Given the description of an element on the screen output the (x, y) to click on. 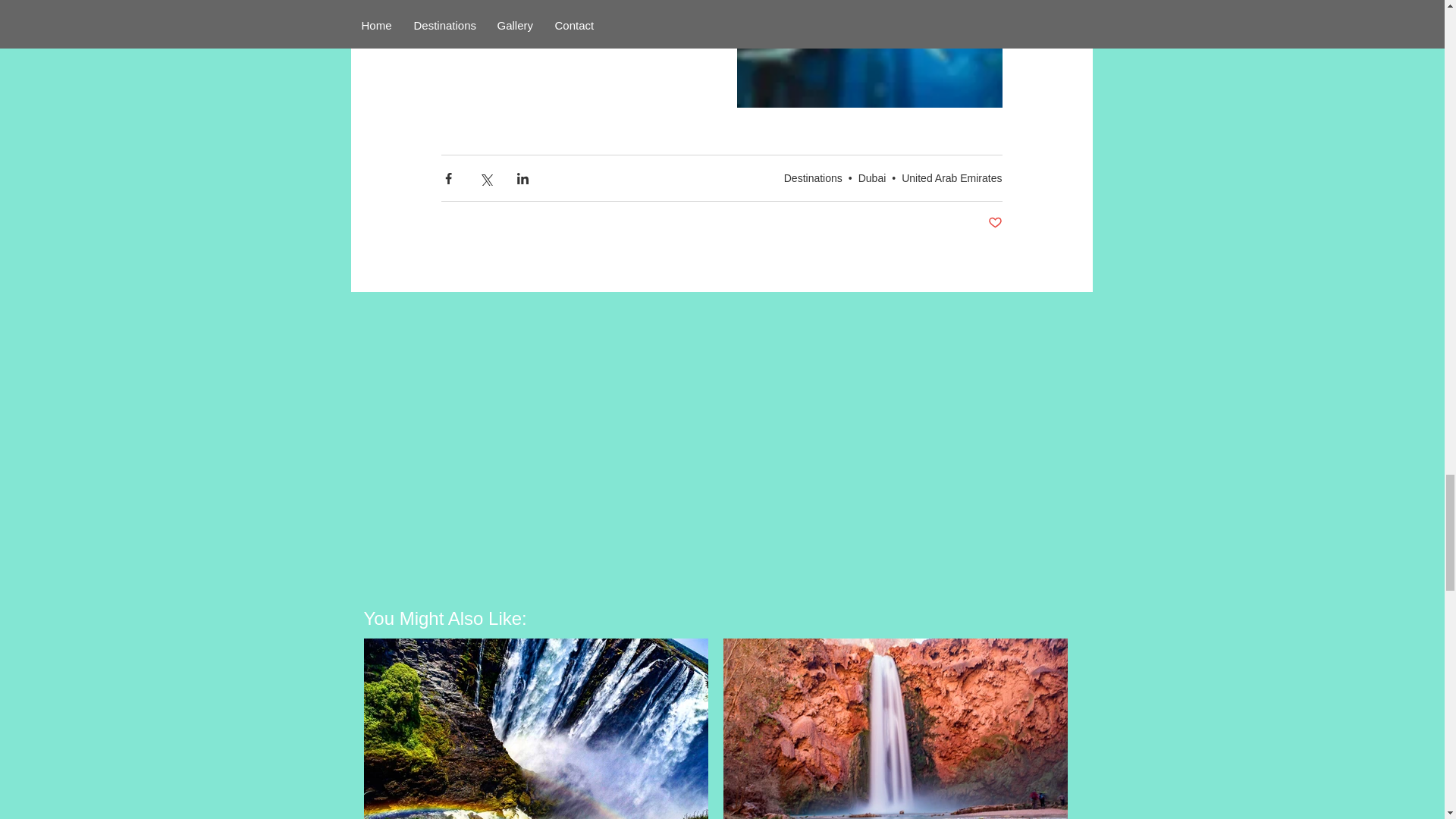
United Arab Emirates (951, 177)
Destinations (813, 177)
Post not marked as liked (994, 222)
Dubai (872, 177)
